Given the description of an element on the screen output the (x, y) to click on. 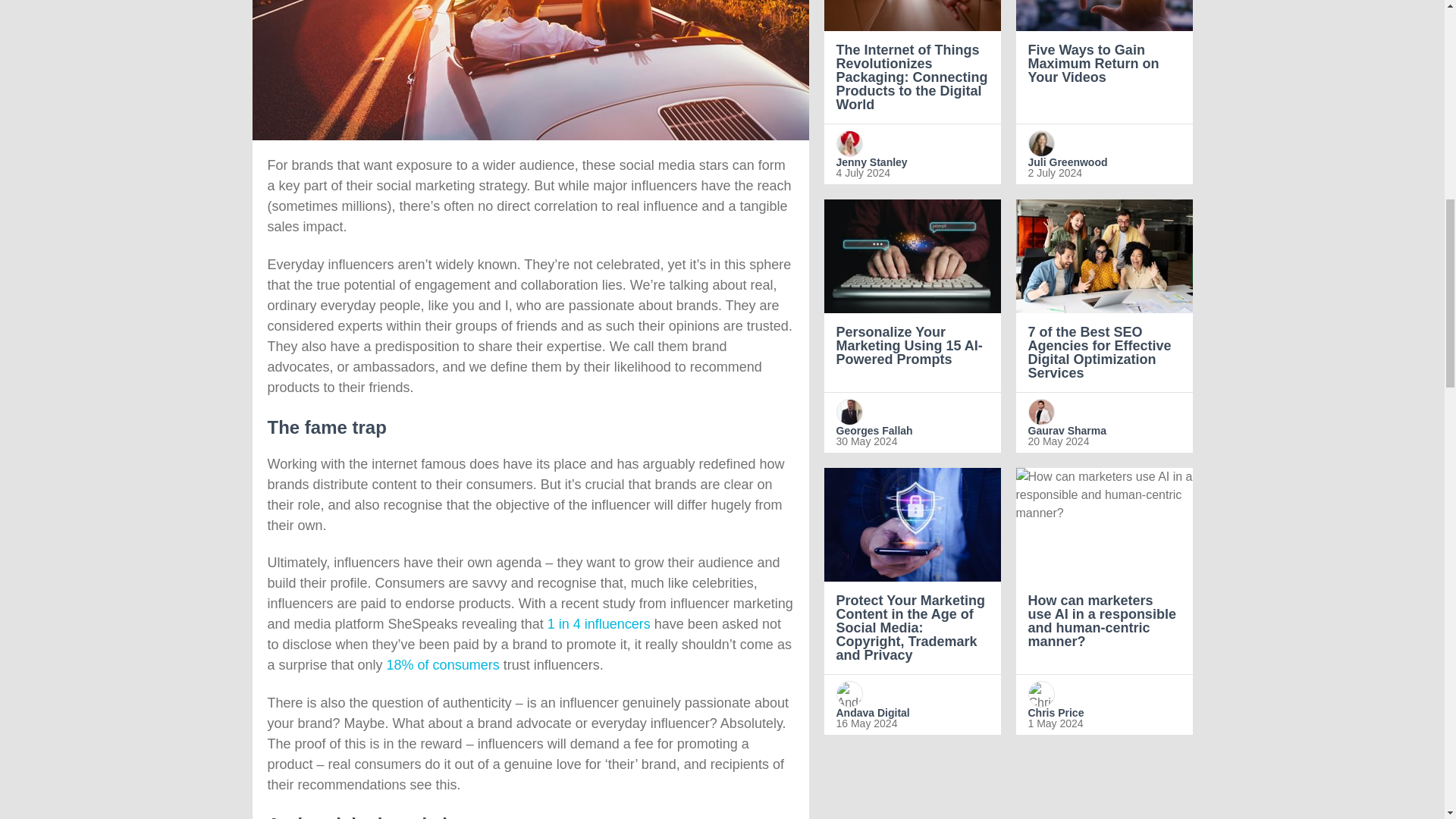
Read more (1104, 92)
Read more (912, 92)
1 in 4 influencers (598, 623)
